Given the description of an element on the screen output the (x, y) to click on. 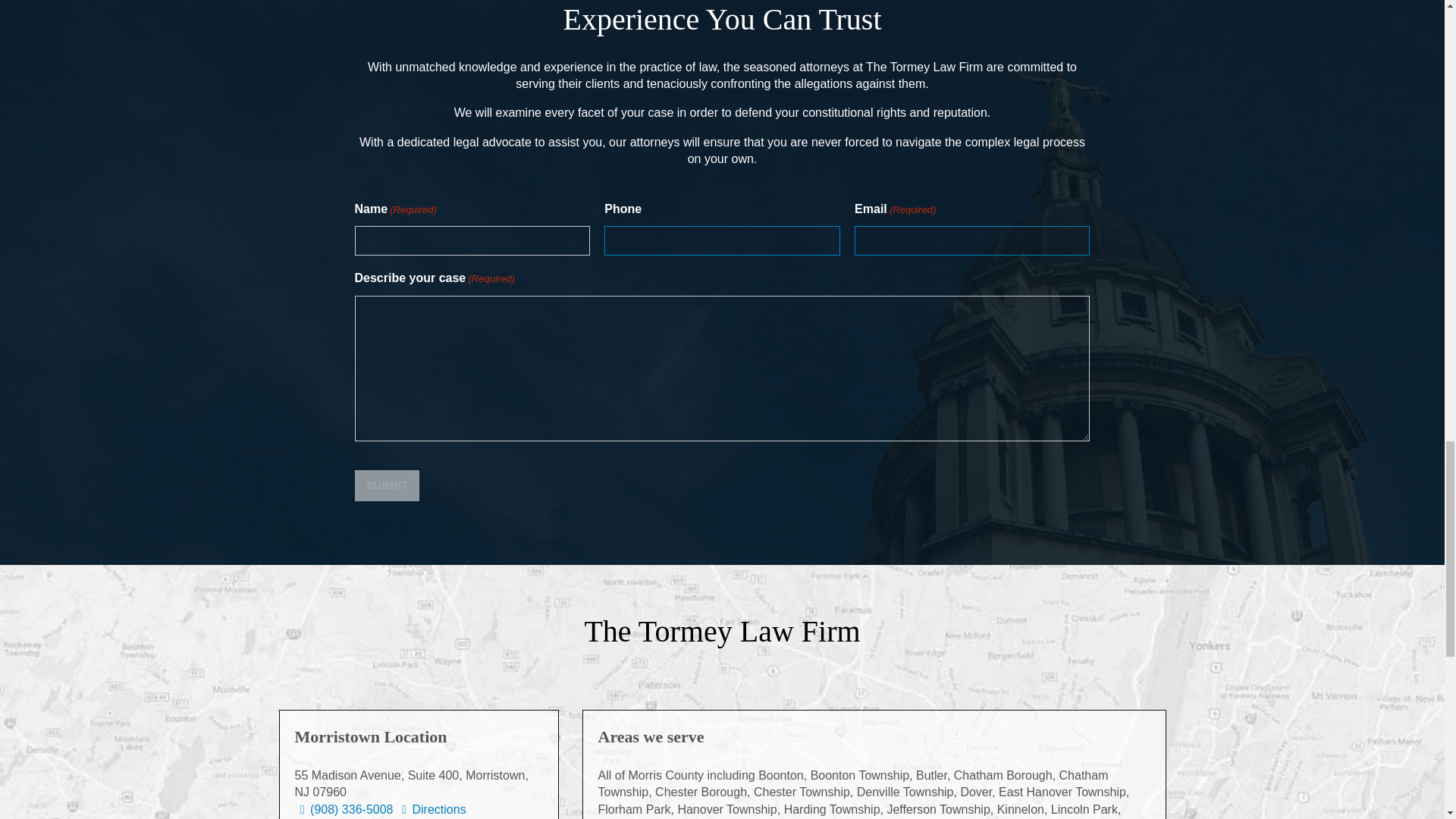
Submit (387, 485)
